Given the description of an element on the screen output the (x, y) to click on. 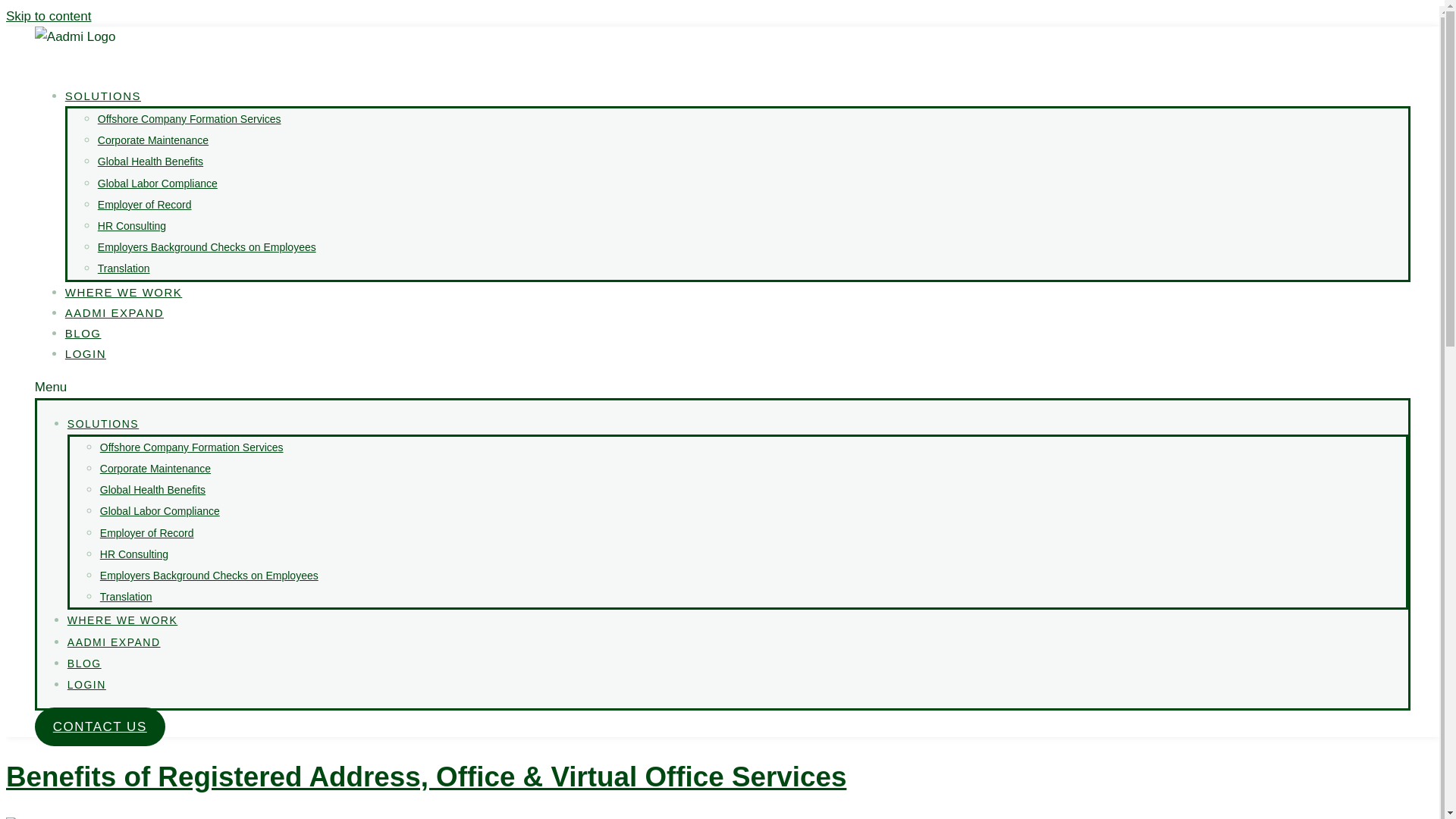
LOGIN (86, 684)
Translation (123, 268)
Skip to content (47, 16)
CONTACT US (99, 726)
WHERE WE WORK (124, 292)
Global Health Benefits (150, 161)
LOGIN (85, 353)
AADMI EXPAND (113, 642)
BLOG (83, 663)
Employers Background Checks on Employees (206, 246)
